Given the description of an element on the screen output the (x, y) to click on. 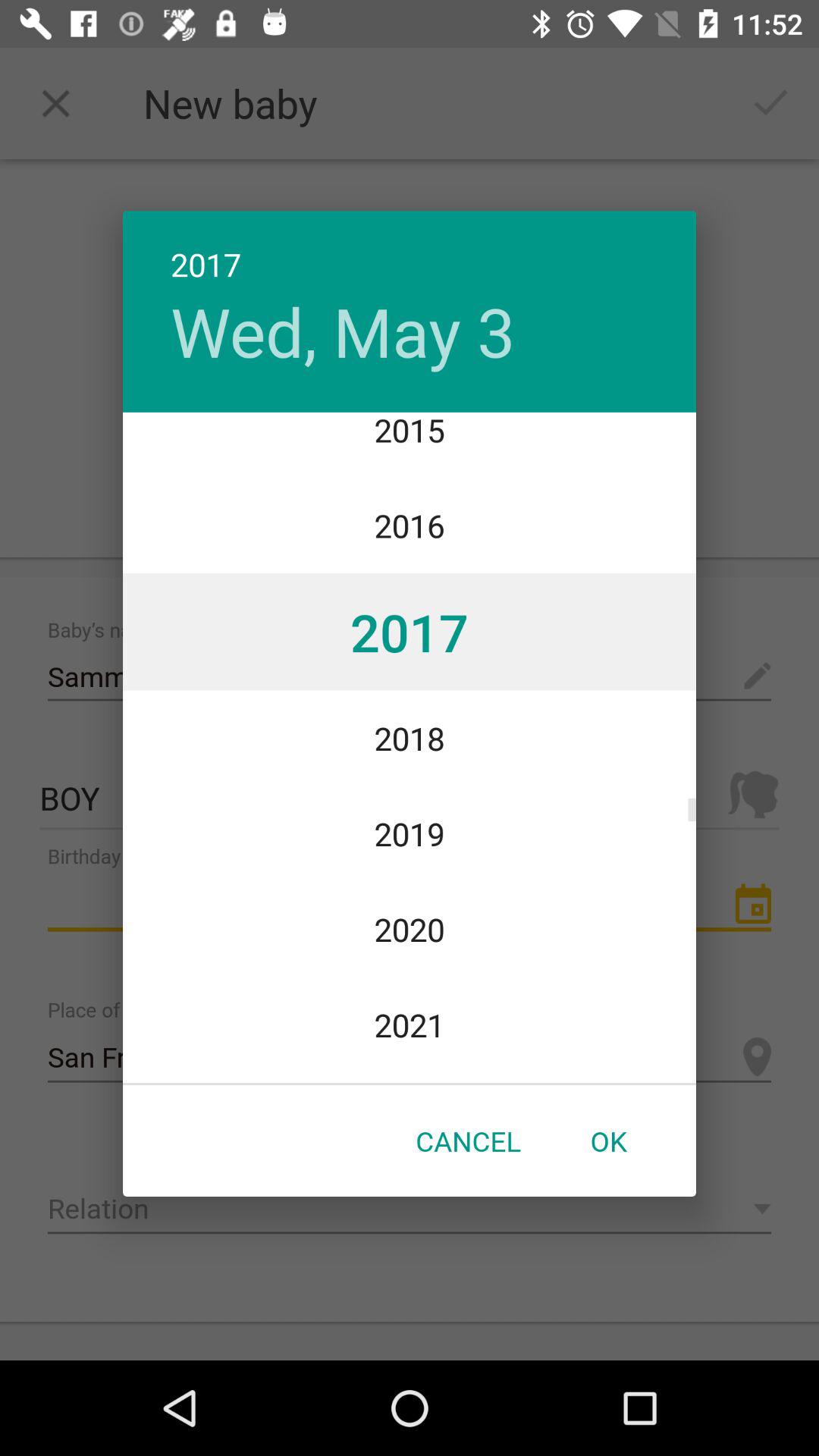
swipe until ok item (608, 1140)
